Given the description of an element on the screen output the (x, y) to click on. 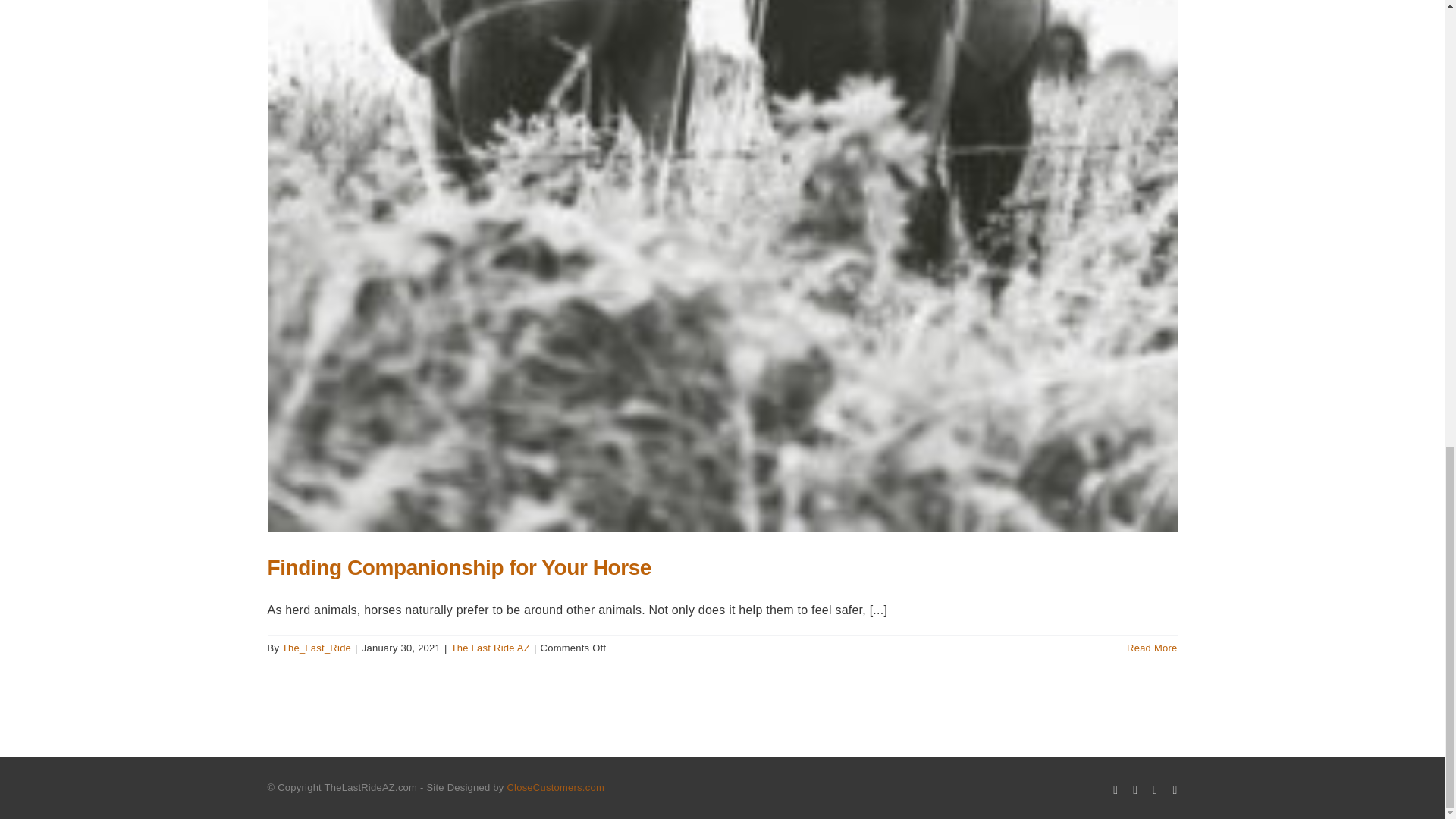
Read More (1151, 647)
Finding Companionship for Your Horse (458, 567)
CloseCustomers.com (555, 787)
The Last Ride AZ (490, 647)
